Given the description of an element on the screen output the (x, y) to click on. 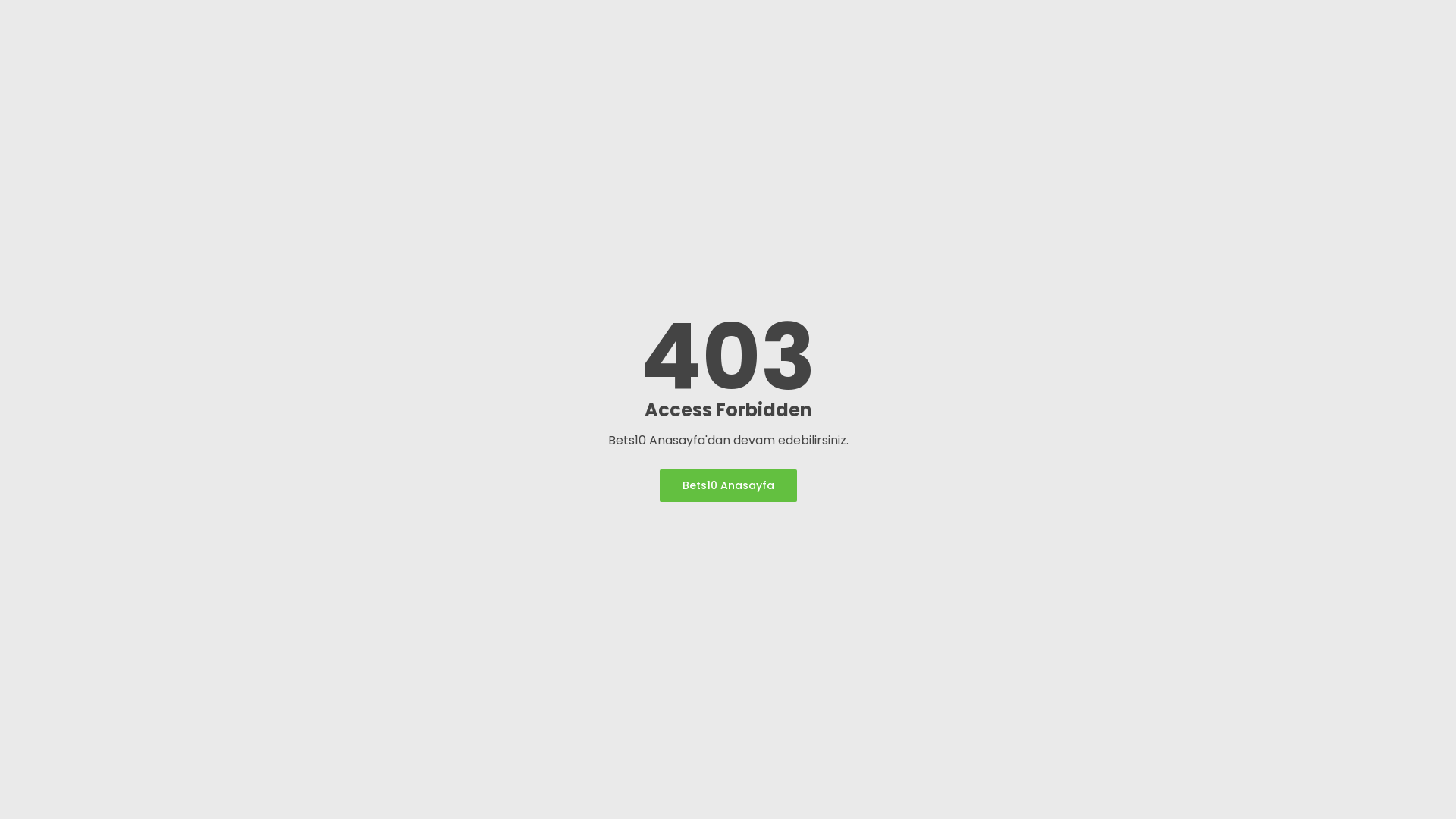
Bets10 Anasayfa Element type: text (728, 484)
